Given the description of an element on the screen output the (x, y) to click on. 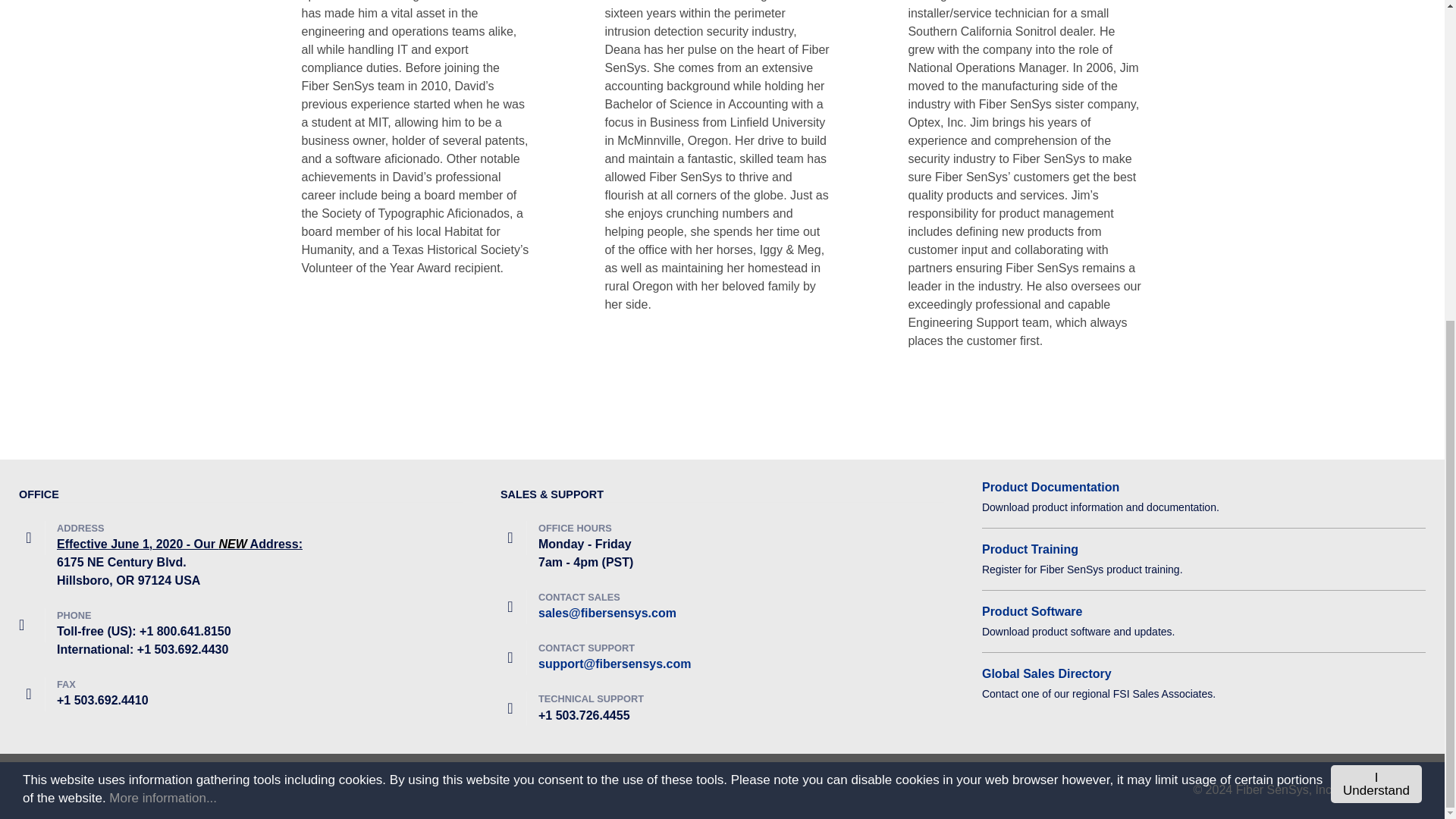
More information... (162, 332)
